Given the description of an element on the screen output the (x, y) to click on. 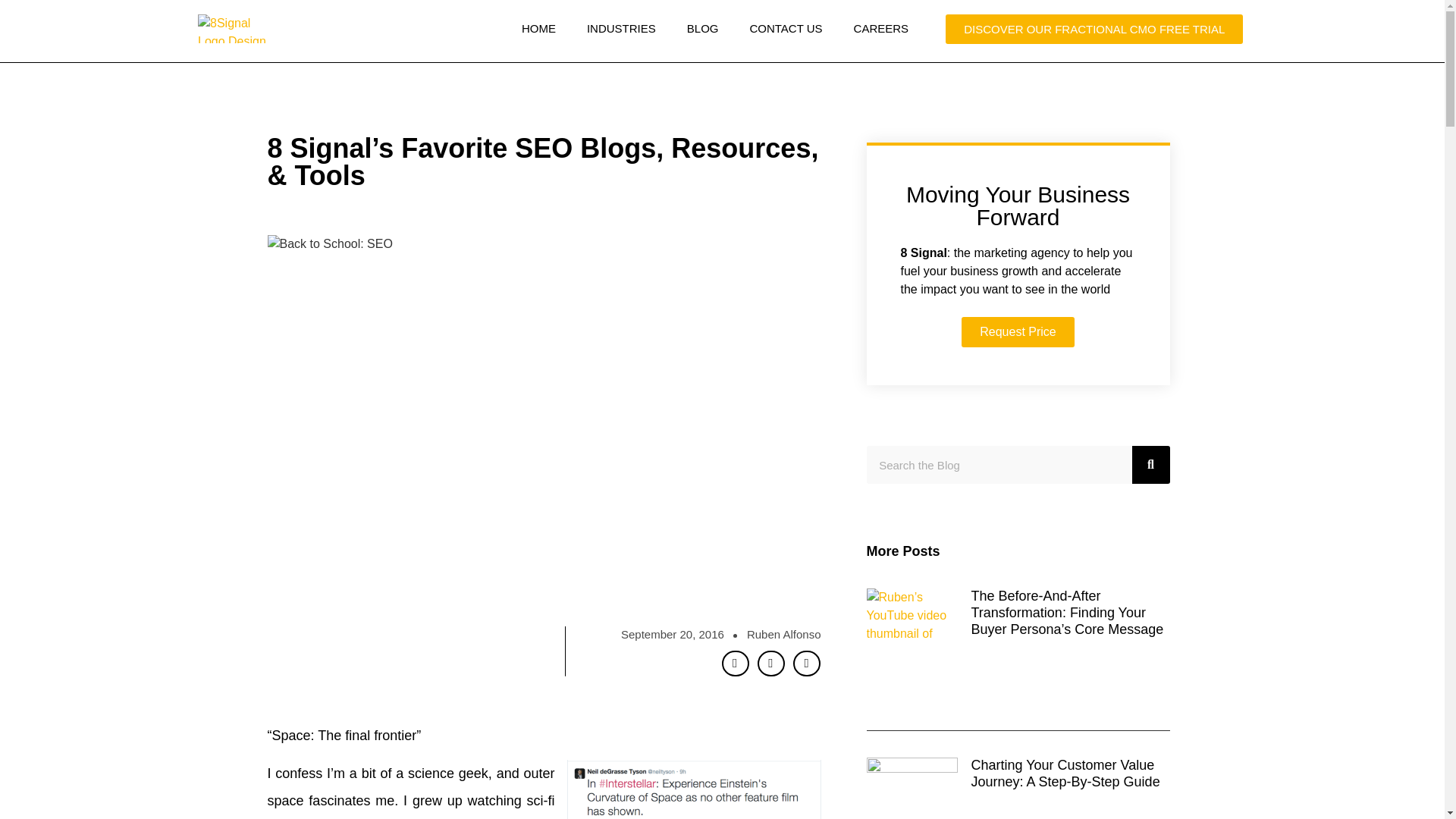
Ruben Alfonso (783, 634)
INDUSTRIES (621, 28)
September 20, 2016 (672, 634)
HOME (538, 28)
BLOG (702, 28)
CAREERS (881, 28)
Request Price (1017, 331)
CONTACT US (785, 28)
DISCOVER OUR FRACTIONAL CMO FREE TRIAL (1093, 28)
